Given the description of an element on the screen output the (x, y) to click on. 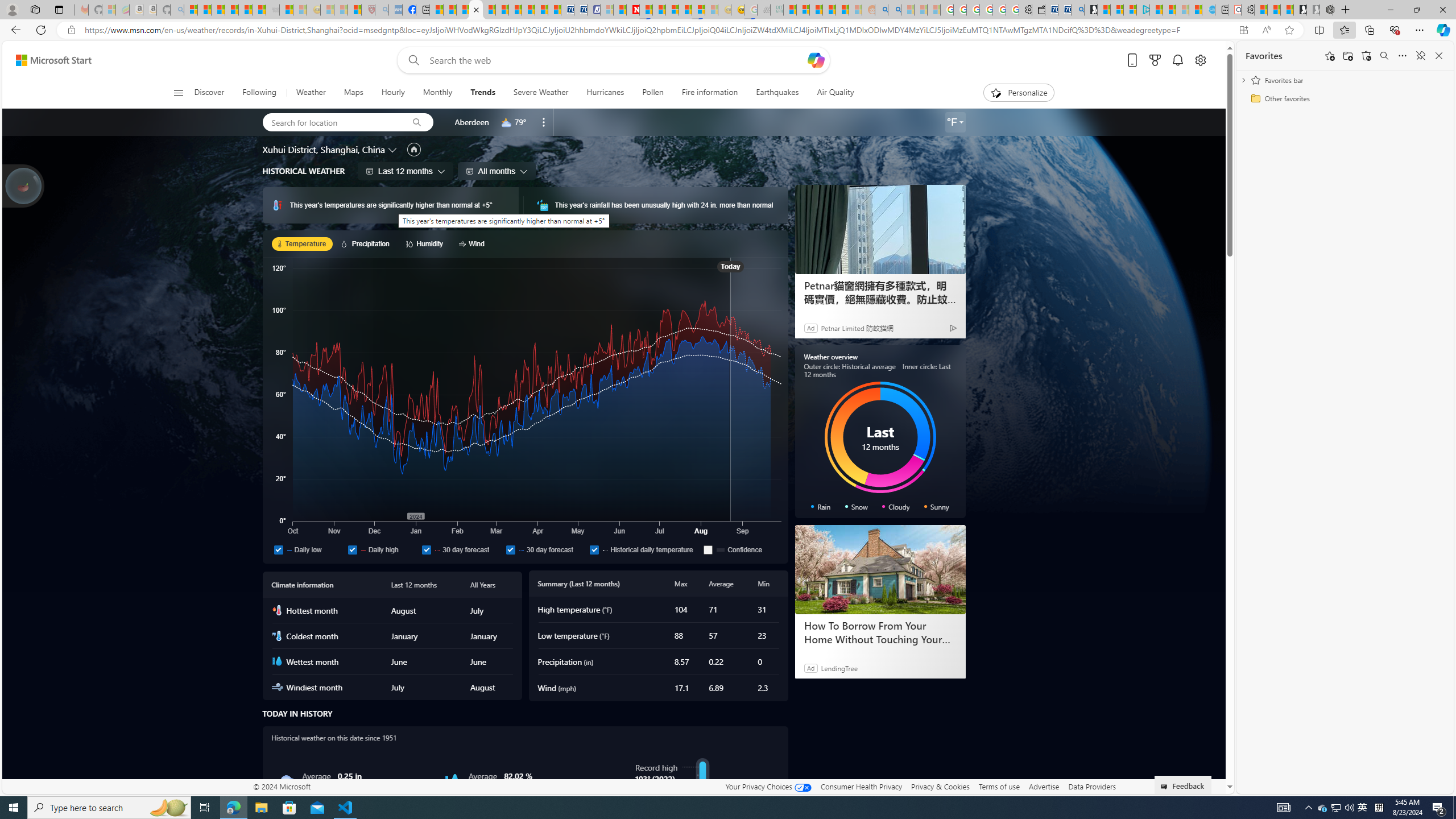
Unpin favorites (1420, 55)
30 day forecast (510, 549)
Last 12 months (405, 170)
Historical daily temperature (594, 549)
Cheap Hotels - Save70.com (580, 9)
Your Privacy Choices (767, 785)
